Given the description of an element on the screen output the (x, y) to click on. 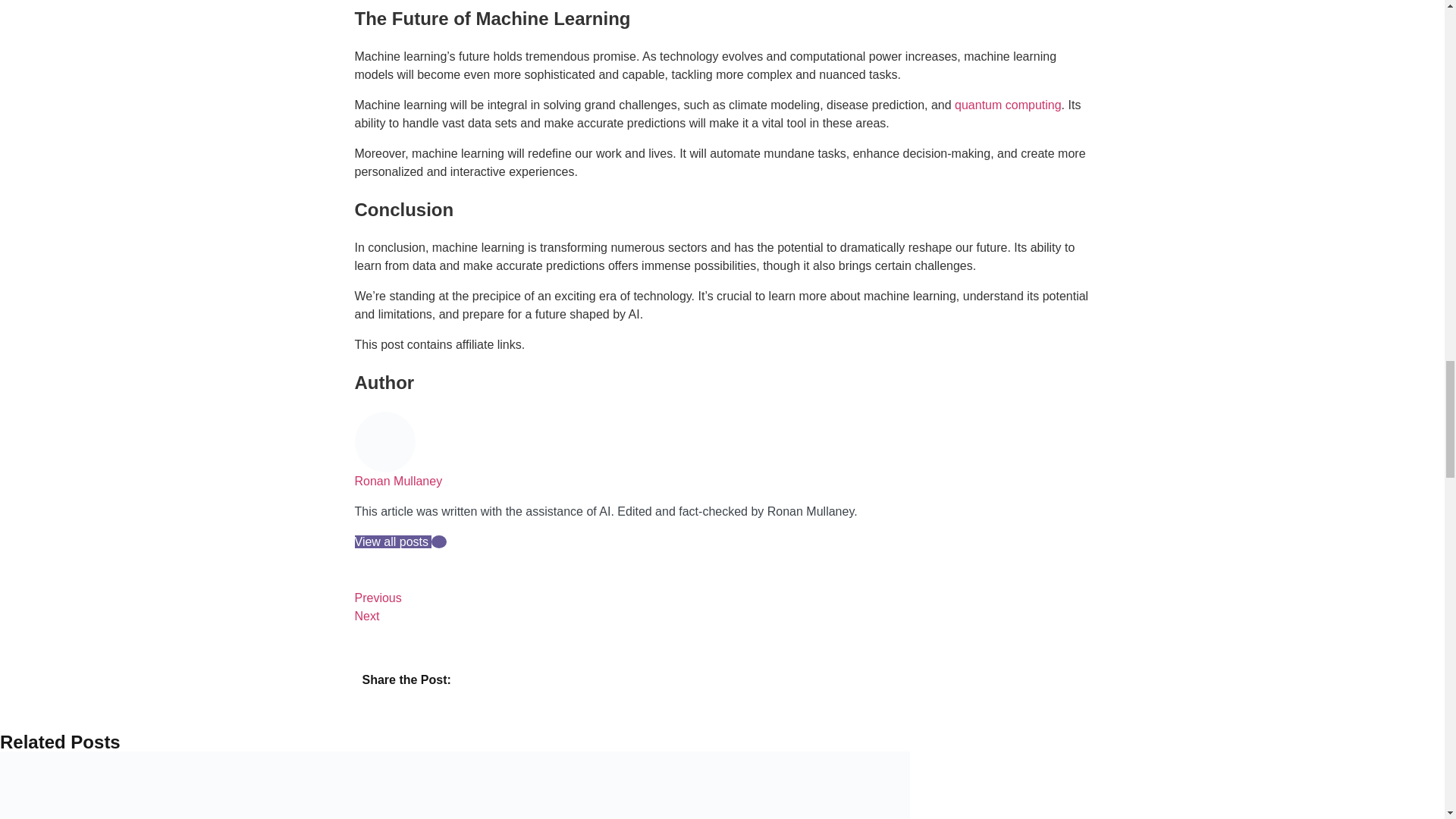
Ronan Mullaney (398, 481)
View all posts (393, 541)
